Given the description of an element on the screen output the (x, y) to click on. 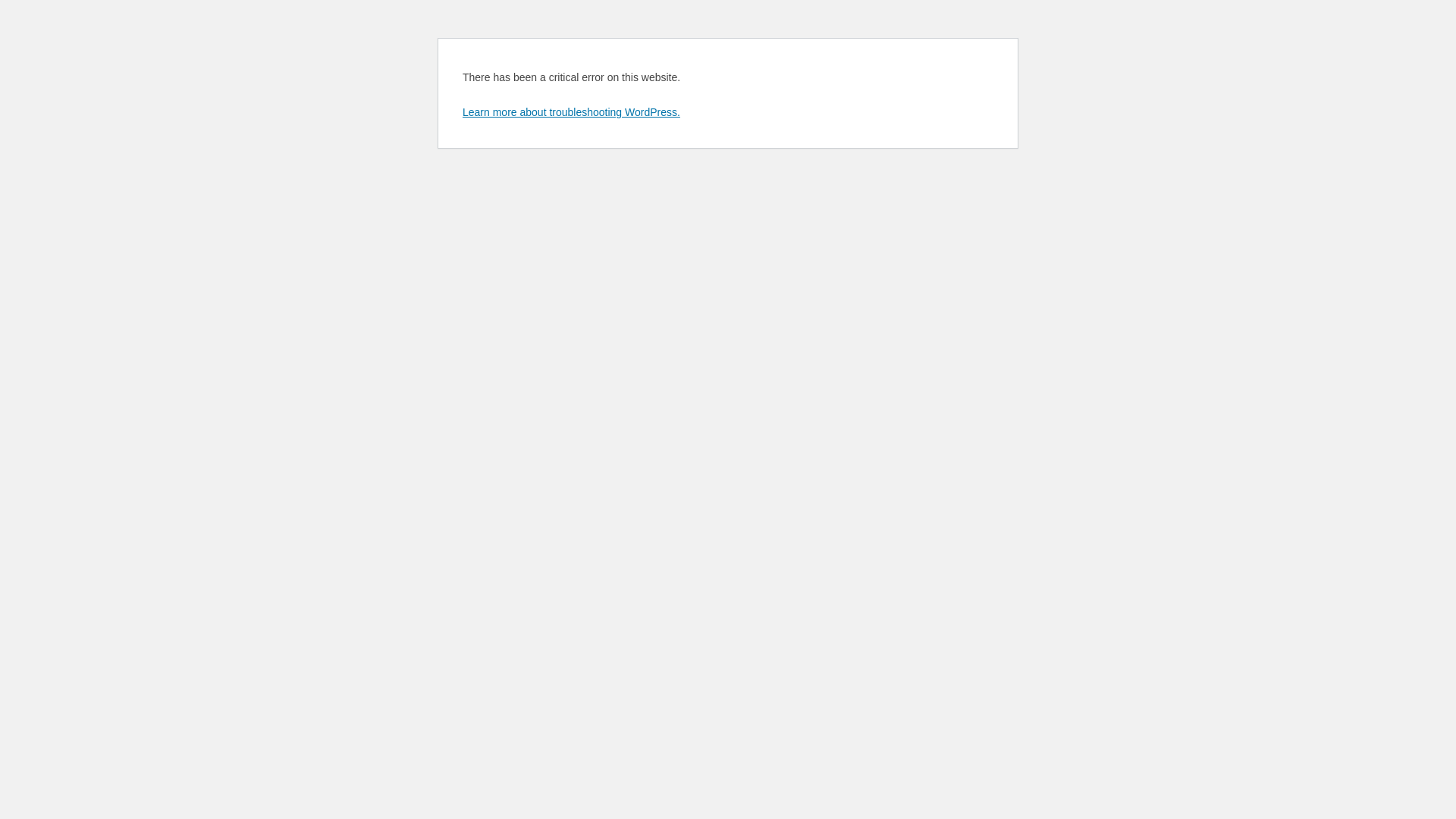
Learn more about troubleshooting WordPress. Element type: text (571, 112)
